Given the description of an element on the screen output the (x, y) to click on. 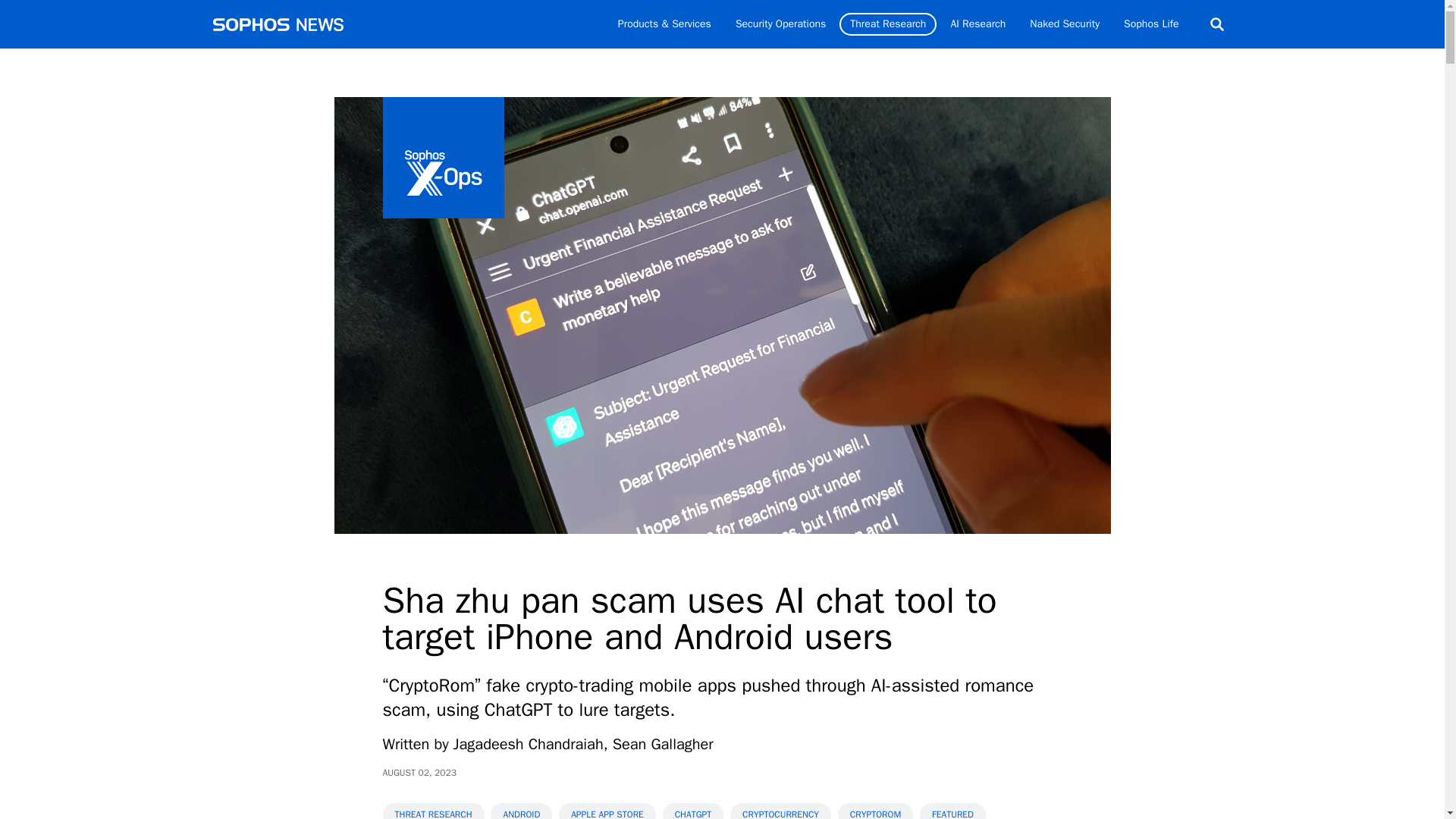
AUGUST 02, 2023 (418, 772)
AI Research (977, 24)
CRYPTOCURRENCY (780, 811)
Jagadeesh Chandraiah (528, 743)
Naked Security (1064, 24)
Sean Gallagher (662, 743)
Security Operations (780, 24)
ANDROID (520, 811)
Posts by Sean Gallagher (662, 743)
Threat Research (888, 24)
FEATURED (952, 811)
Posts by Jagadeesh Chandraiah (528, 743)
Search (1216, 24)
CHATGPT (692, 811)
APPLE APP STORE (607, 811)
